Given the description of an element on the screen output the (x, y) to click on. 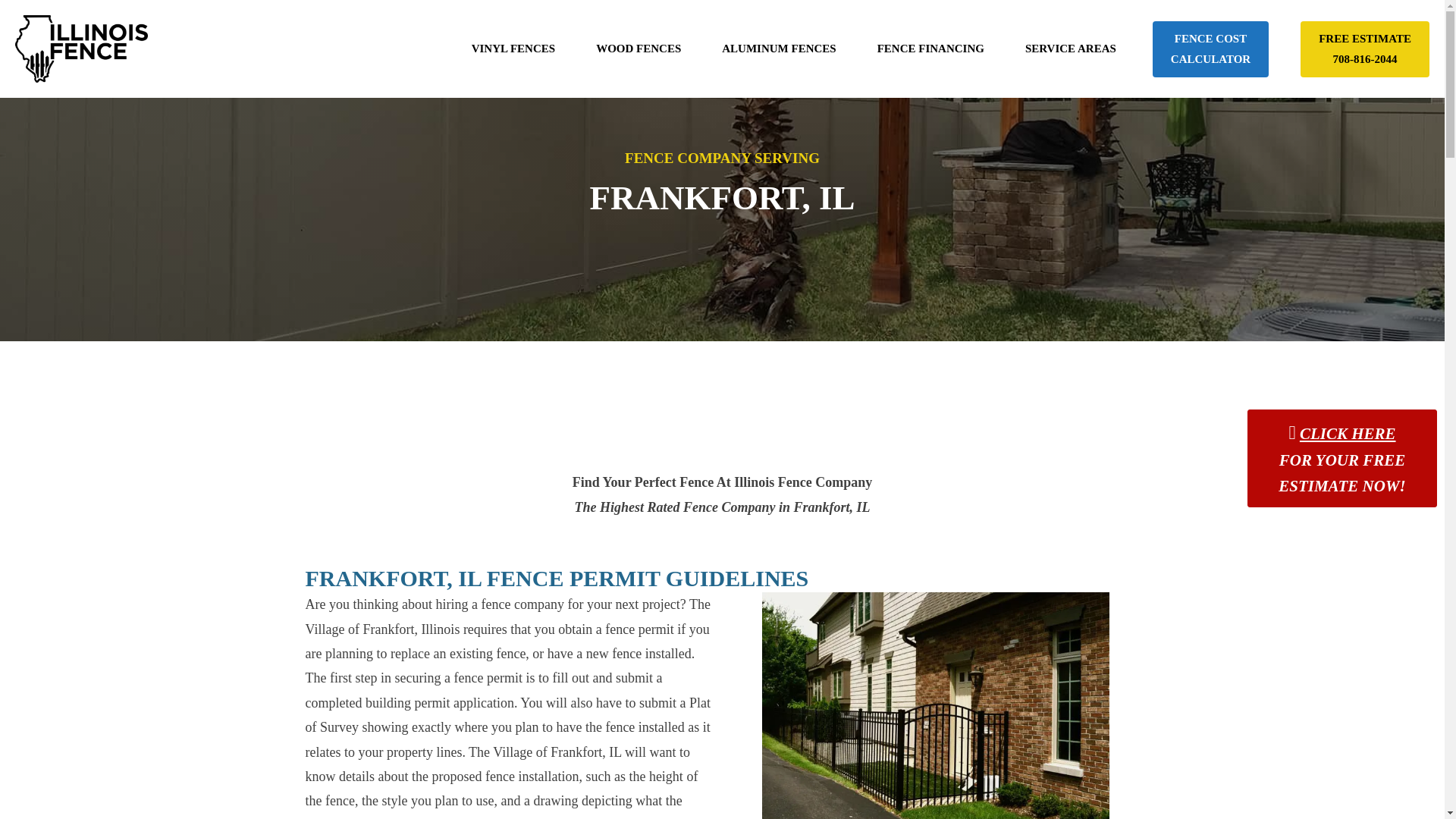
VINYL FENCES (513, 48)
WOOD FENCES (638, 48)
FENCE FINANCING (1364, 48)
Call us now for a free estimate (930, 48)
SERVICE AREAS (1364, 48)
ALUMINUM FENCES (1070, 48)
